Given the description of an element on the screen output the (x, y) to click on. 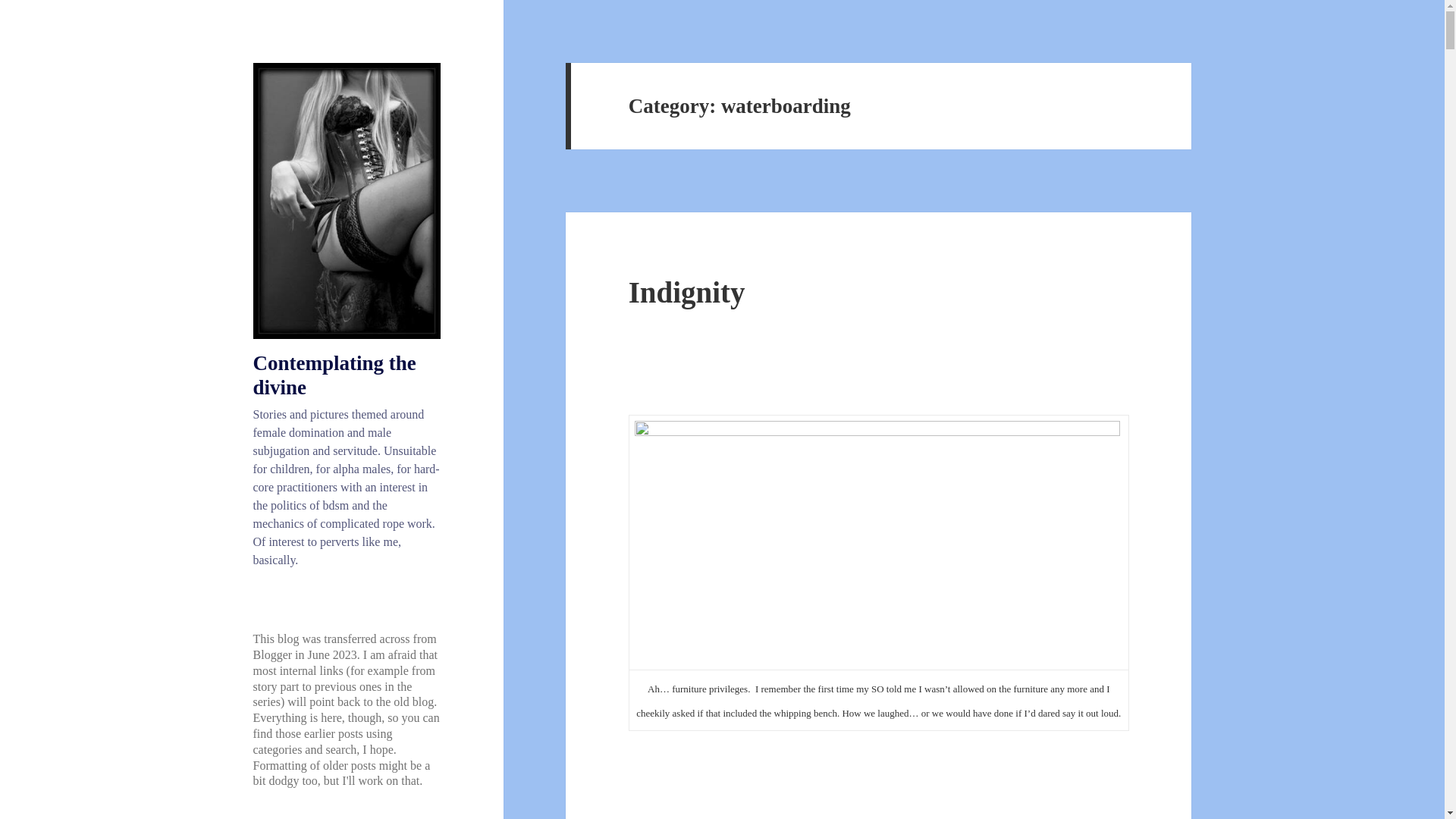
Contemplating the divine (334, 375)
